Given the description of an element on the screen output the (x, y) to click on. 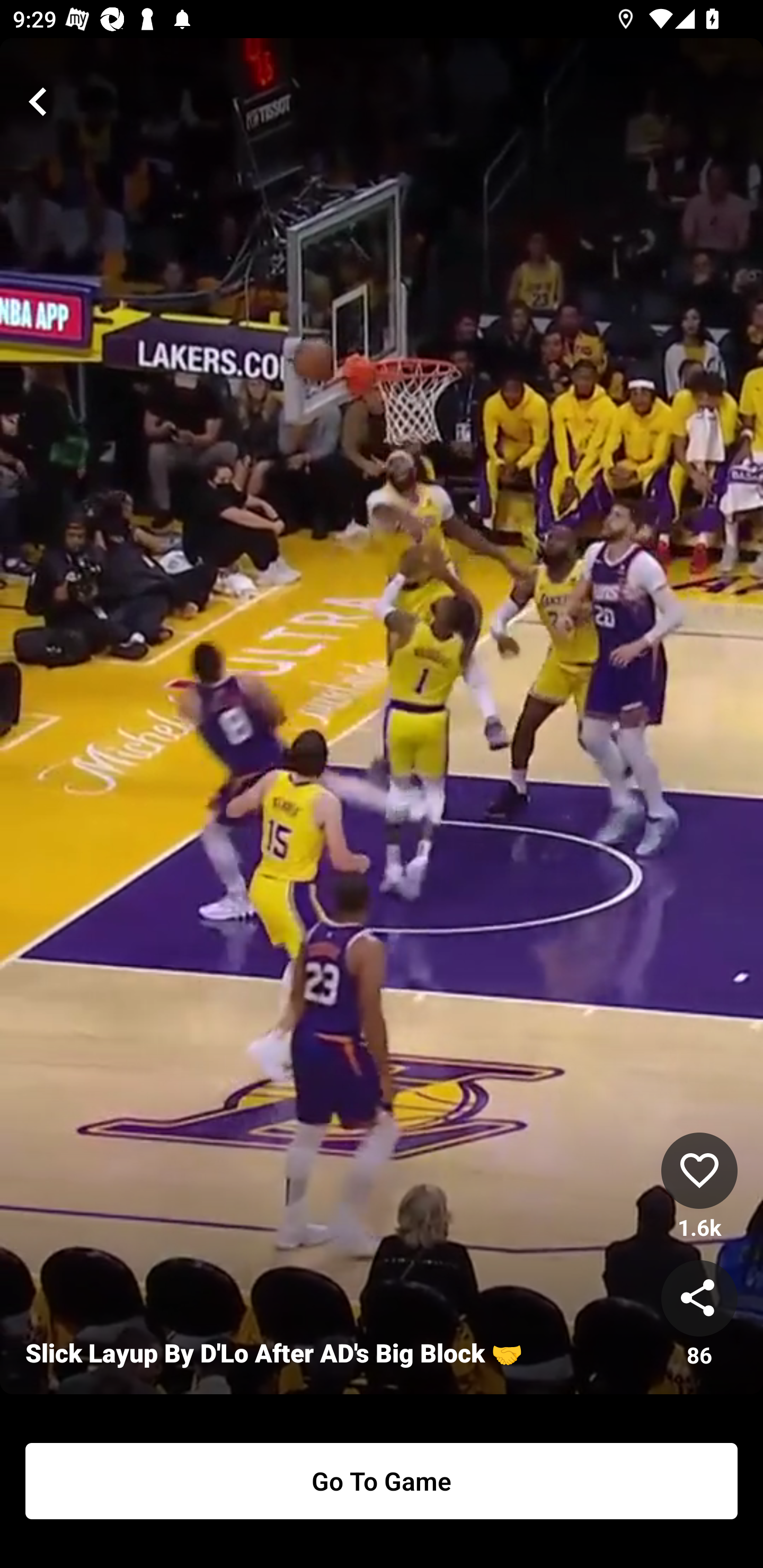
close (38, 101)
like 1.6k 1615 Likes (699, 1186)
share 86 86 Shares (699, 1314)
Go To Game (381, 1480)
